Given the description of an element on the screen output the (x, y) to click on. 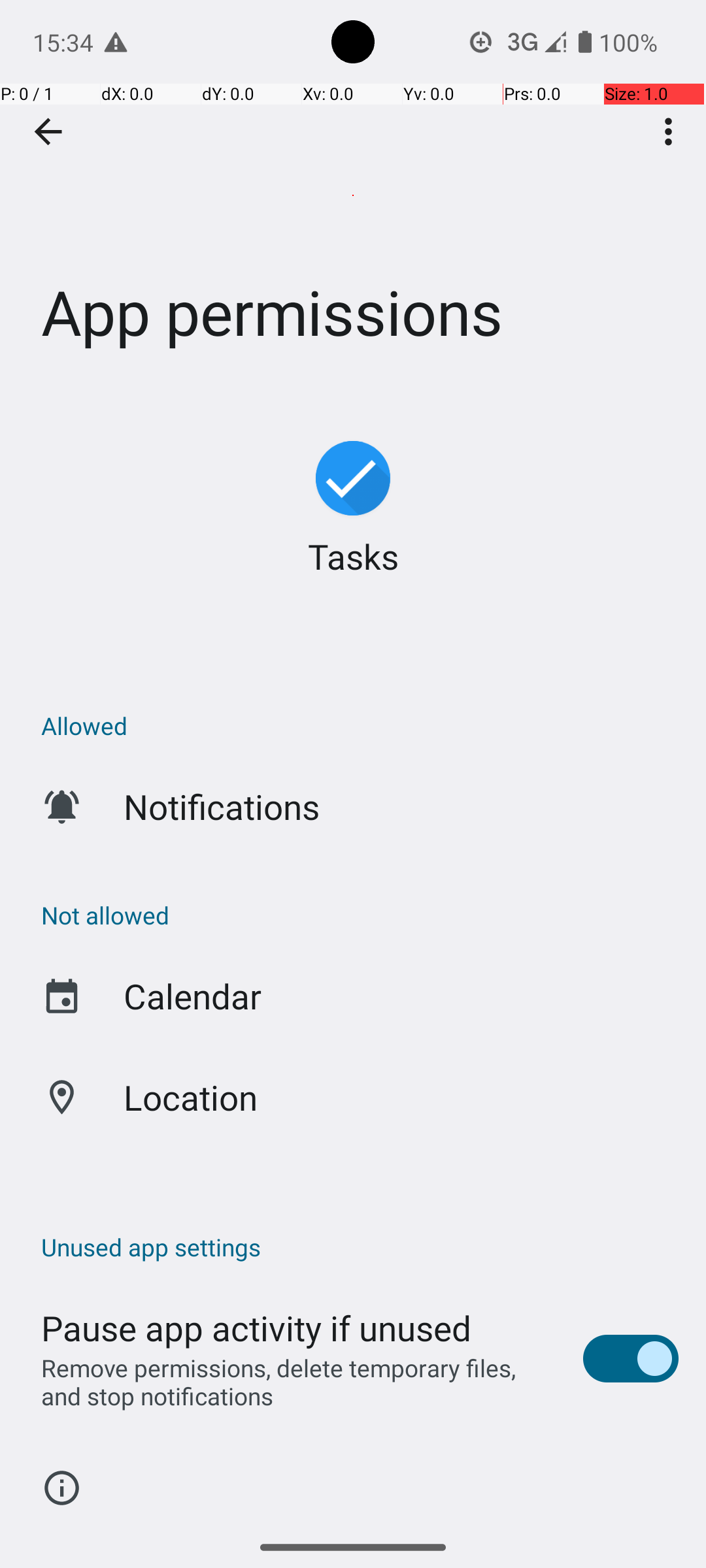
App permissions Element type: android.widget.FrameLayout (353, 195)
Allowed Element type: android.widget.TextView (359, 725)
Not allowed Element type: android.widget.TextView (359, 914)
Unused app settings Element type: android.widget.TextView (359, 1246)
Pause app activity if unused Element type: android.widget.TextView (256, 1327)
Remove permissions, delete temporary files, and stop notifications Element type: android.widget.TextView (298, 1381)
To protect your data, if the app is unused for a few months, the following permissions will be removed: Notifications Element type: android.widget.TextView (359, 1520)
